Given the description of an element on the screen output the (x, y) to click on. 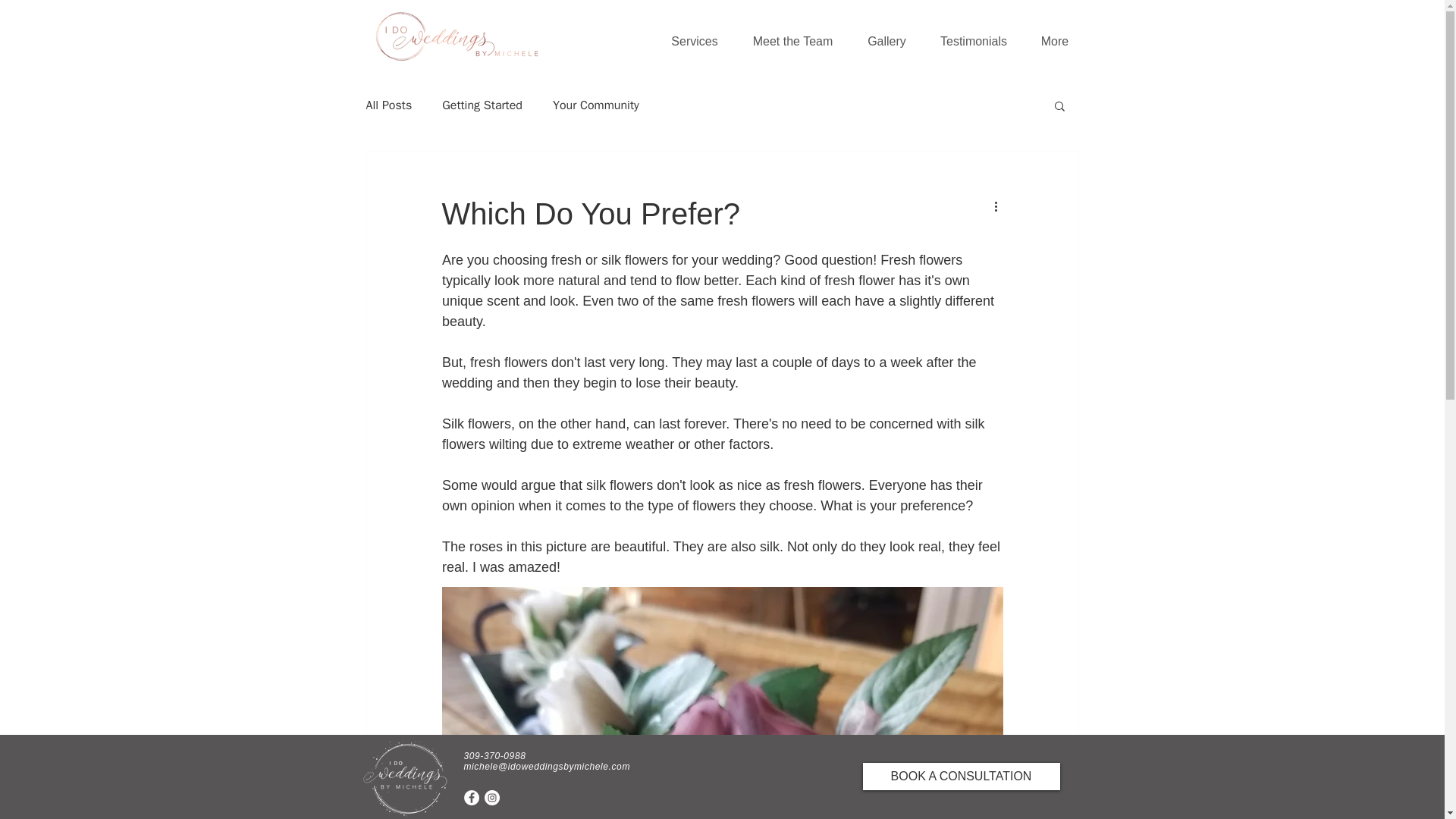
Your Community (596, 105)
BOOK A CONSULTATION (961, 776)
Testimonials (974, 41)
Meet the Team (792, 41)
All Posts (388, 105)
Gallery (886, 41)
Getting Started (482, 105)
